Given the description of an element on the screen output the (x, y) to click on. 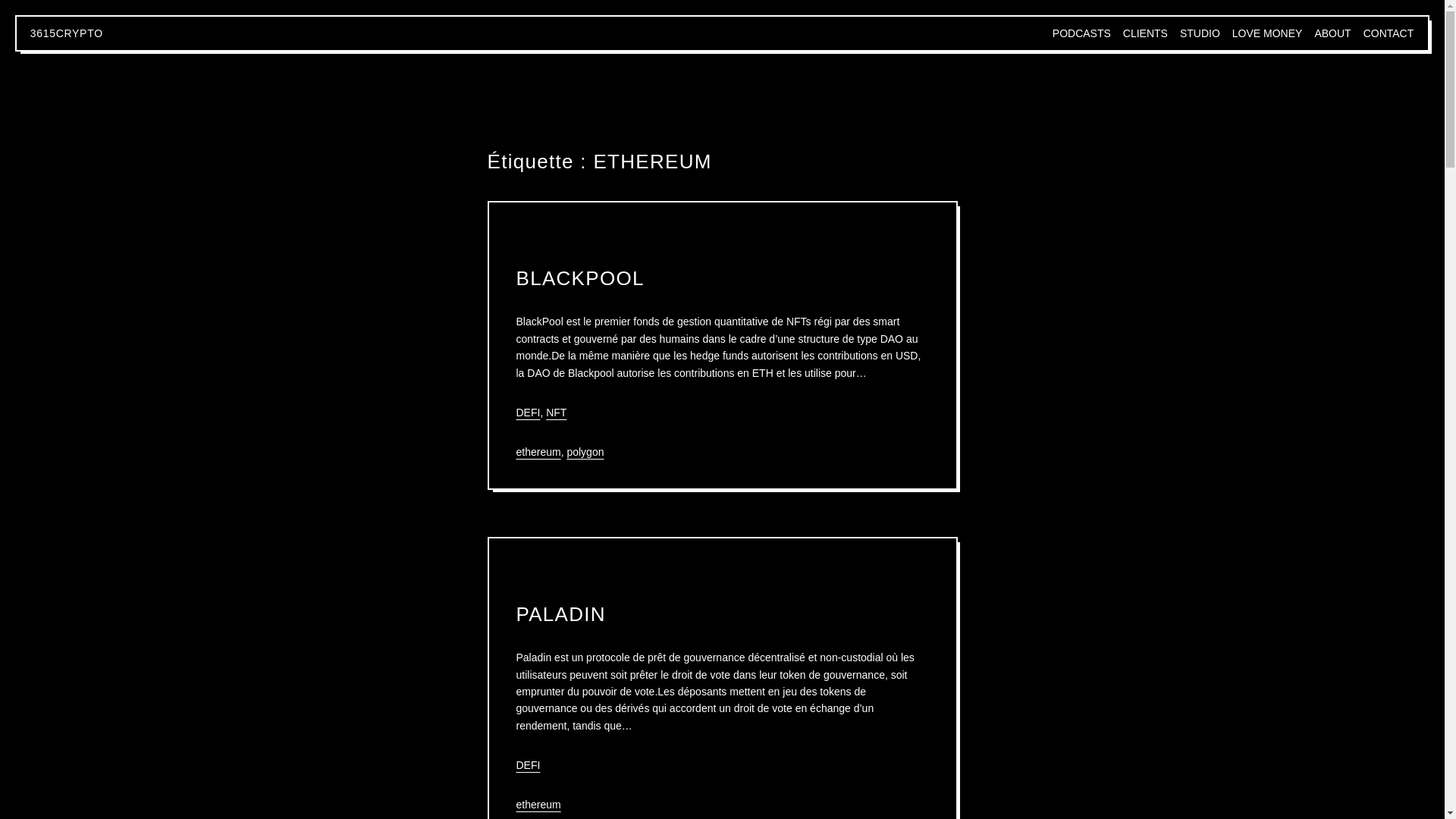
DEFI Element type: text (527, 412)
BLACKPOOL Element type: text (579, 278)
STUDIO Element type: text (1199, 33)
LOVE MONEY Element type: text (1267, 33)
3615CRYPTO Element type: text (66, 33)
PODCASTS Element type: text (1081, 33)
CONTACT Element type: text (1388, 33)
CLIENTS Element type: text (1145, 33)
PALADIN Element type: text (560, 614)
ethereum Element type: text (537, 804)
NFT Element type: text (556, 412)
ethereum Element type: text (537, 451)
ABOUT Element type: text (1332, 33)
polygon Element type: text (584, 451)
DEFI Element type: text (527, 765)
